Given the description of an element on the screen output the (x, y) to click on. 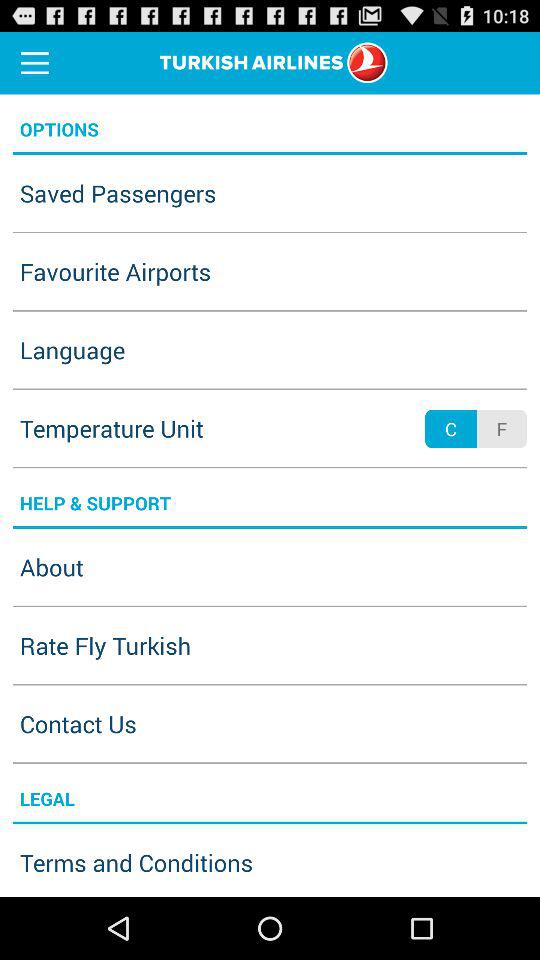
open menu (35, 62)
